Given the description of an element on the screen output the (x, y) to click on. 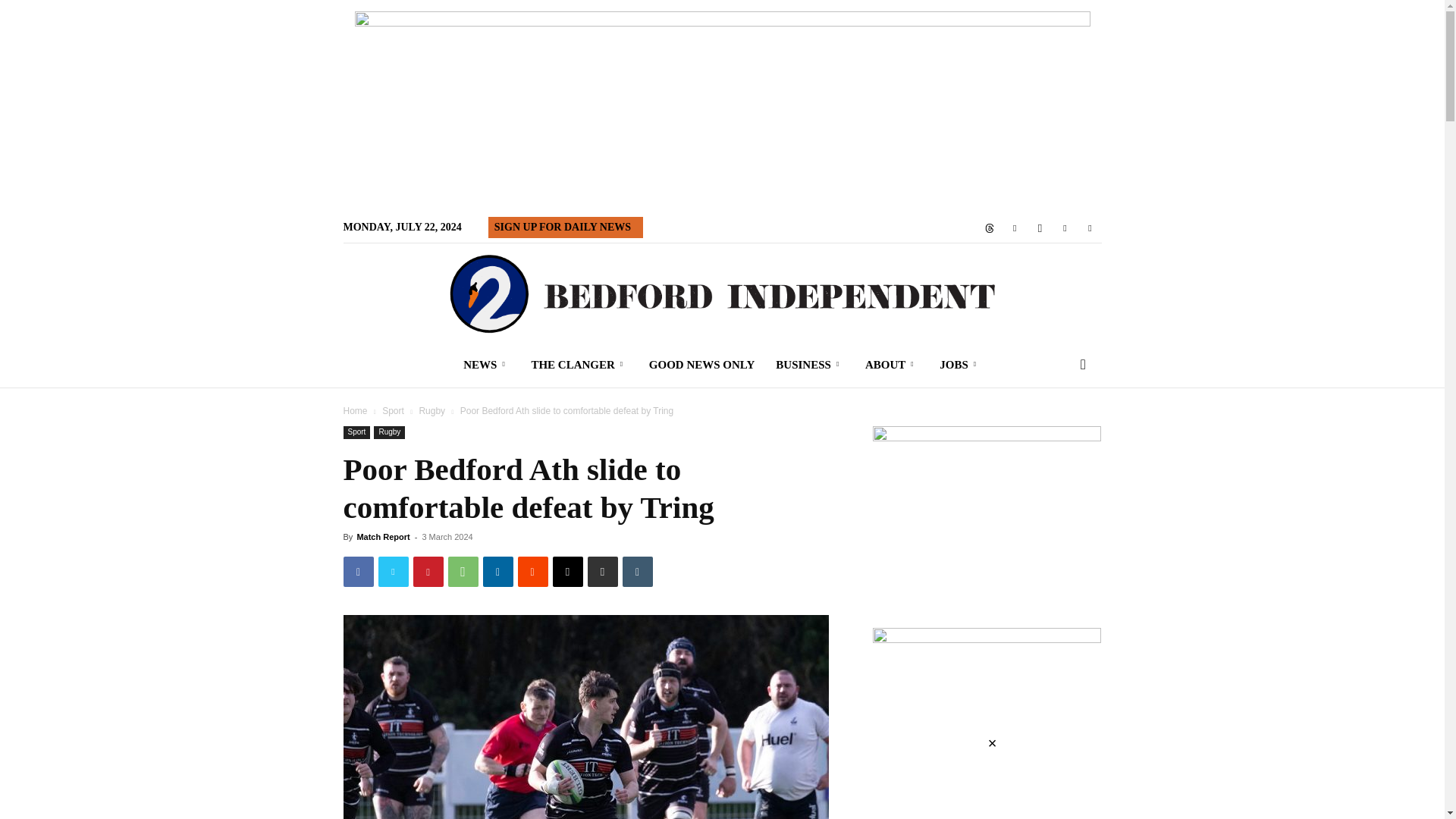
Bedford Independent (721, 293)
View all posts in Sport (392, 410)
View all posts in Rugby (432, 410)
Facebook (357, 571)
